Given the description of an element on the screen output the (x, y) to click on. 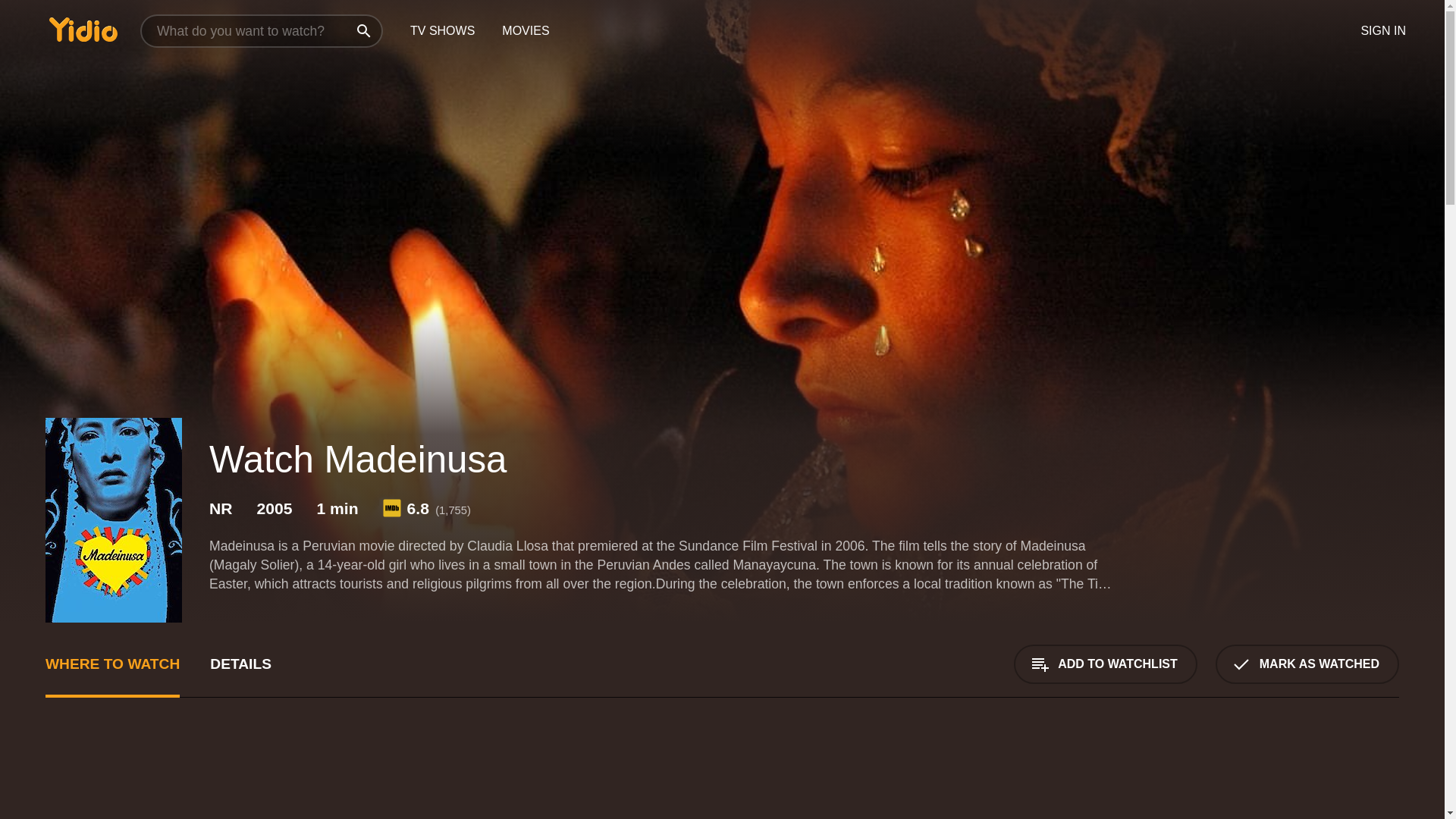
MOVIES (524, 31)
Advertisement (1285, 776)
Advertisement (237, 776)
Yidio (82, 29)
ADD TO WATCHLIST (1104, 663)
MARK AS WATCHED (1307, 663)
TV SHOWS (441, 31)
